Given the description of an element on the screen output the (x, y) to click on. 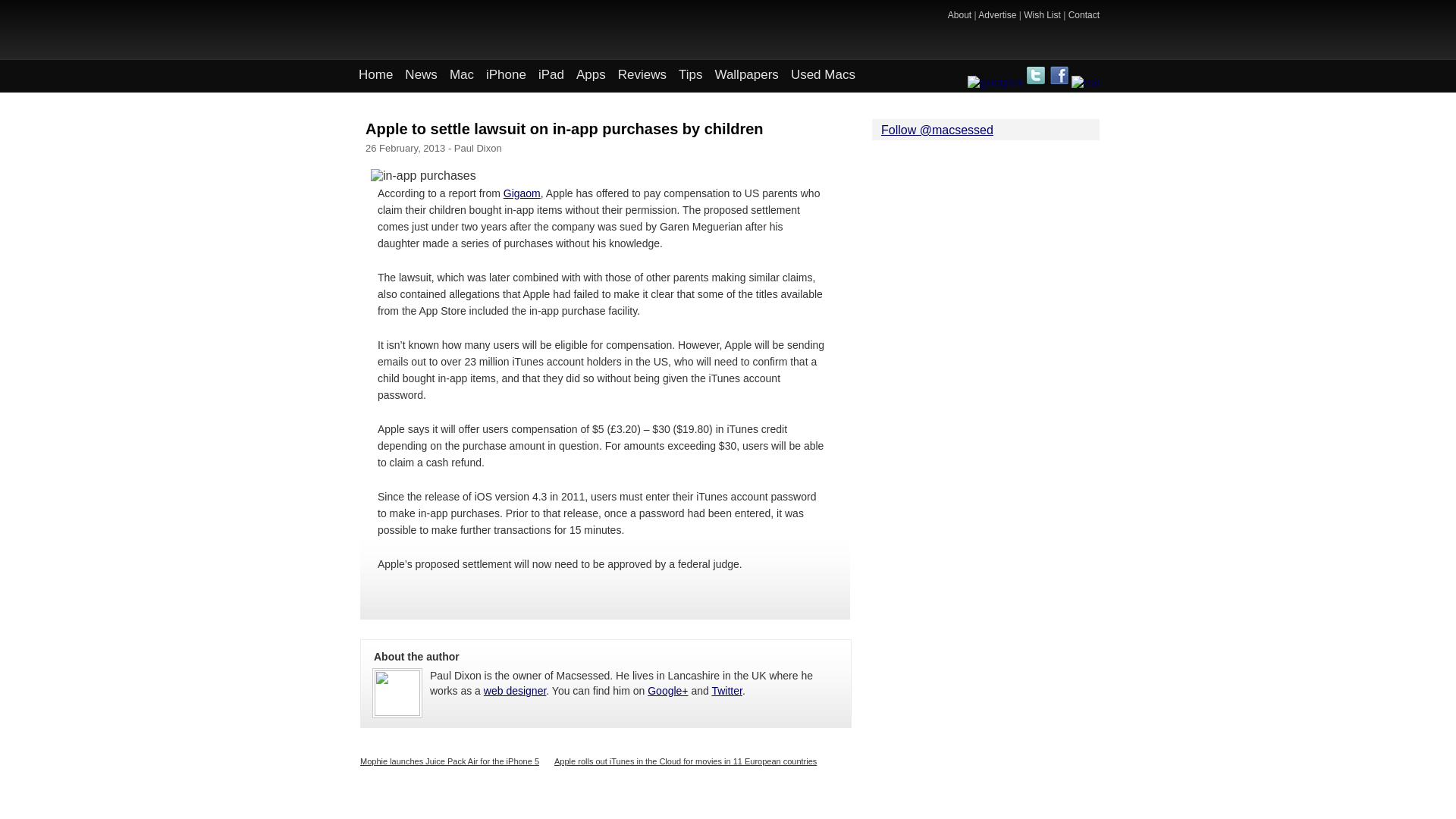
Mophie launches Juice Pack Air for the iPhone 5 (448, 760)
Gigaom (521, 193)
Apps (590, 77)
News (421, 77)
Tips (690, 77)
Mac (462, 77)
Reviews (641, 77)
Contact (1083, 14)
About (959, 14)
